Given the description of an element on the screen output the (x, y) to click on. 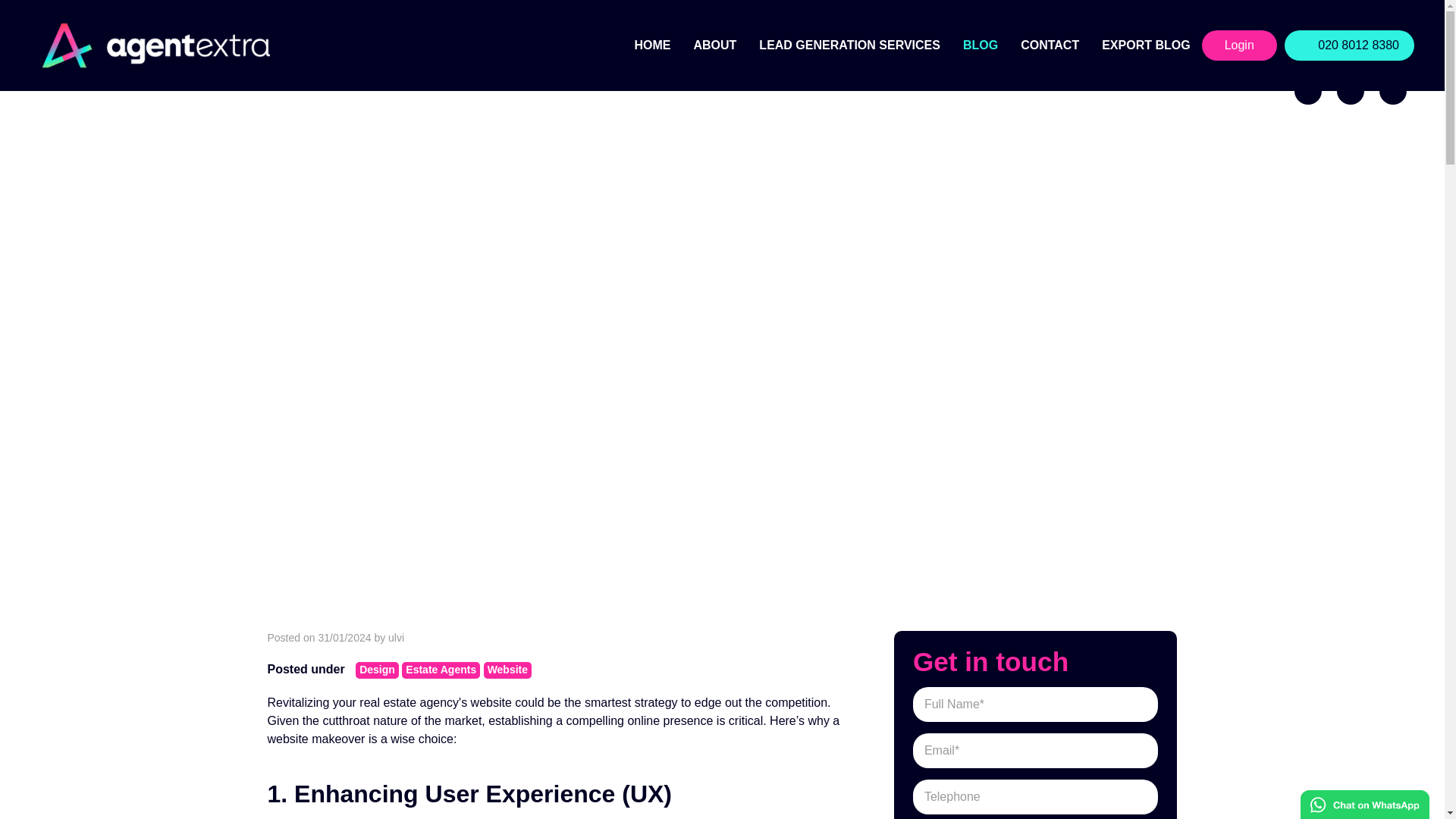
Agent Extra on facebook (1308, 90)
Login (1239, 45)
Agent Extra on instagram (1350, 90)
Agent Extra on linkedin (1392, 90)
EXPORT BLOG (1145, 45)
Login to Agency Analytics (1239, 45)
020 8012 8380 (1348, 45)
LEAD GENERATION SERVICES (850, 45)
CONTACT (1049, 45)
